Given the description of an element on the screen output the (x, y) to click on. 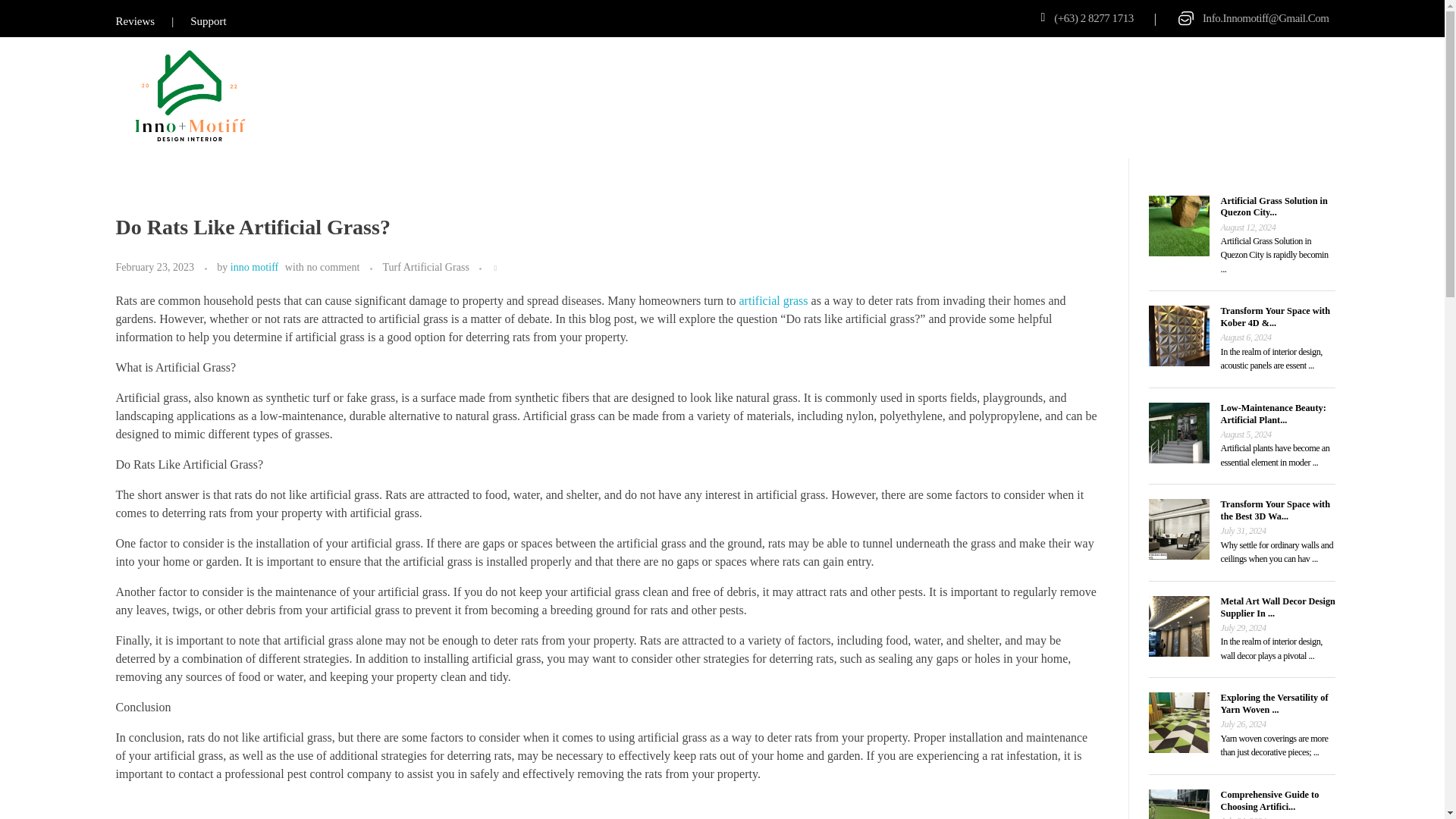
View all posts in Turf Artificial Grass (424, 267)
Transform Your Space with the Best 3D Wa... (1275, 509)
Exploring the Versatility of Yarn Woven ... (1274, 703)
Turf Artificial Grass (424, 267)
inno motiff (254, 266)
Metal Art Wall Decor Design Supplier In ... (1278, 607)
Artificial Grass Solution in Quezon City... (1274, 206)
Comprehensive Guide to Choosing Artifici... (1270, 800)
artificial grass (774, 300)
Low-Maintenance Beauty: Artificial Plant... (1273, 413)
